Given the description of an element on the screen output the (x, y) to click on. 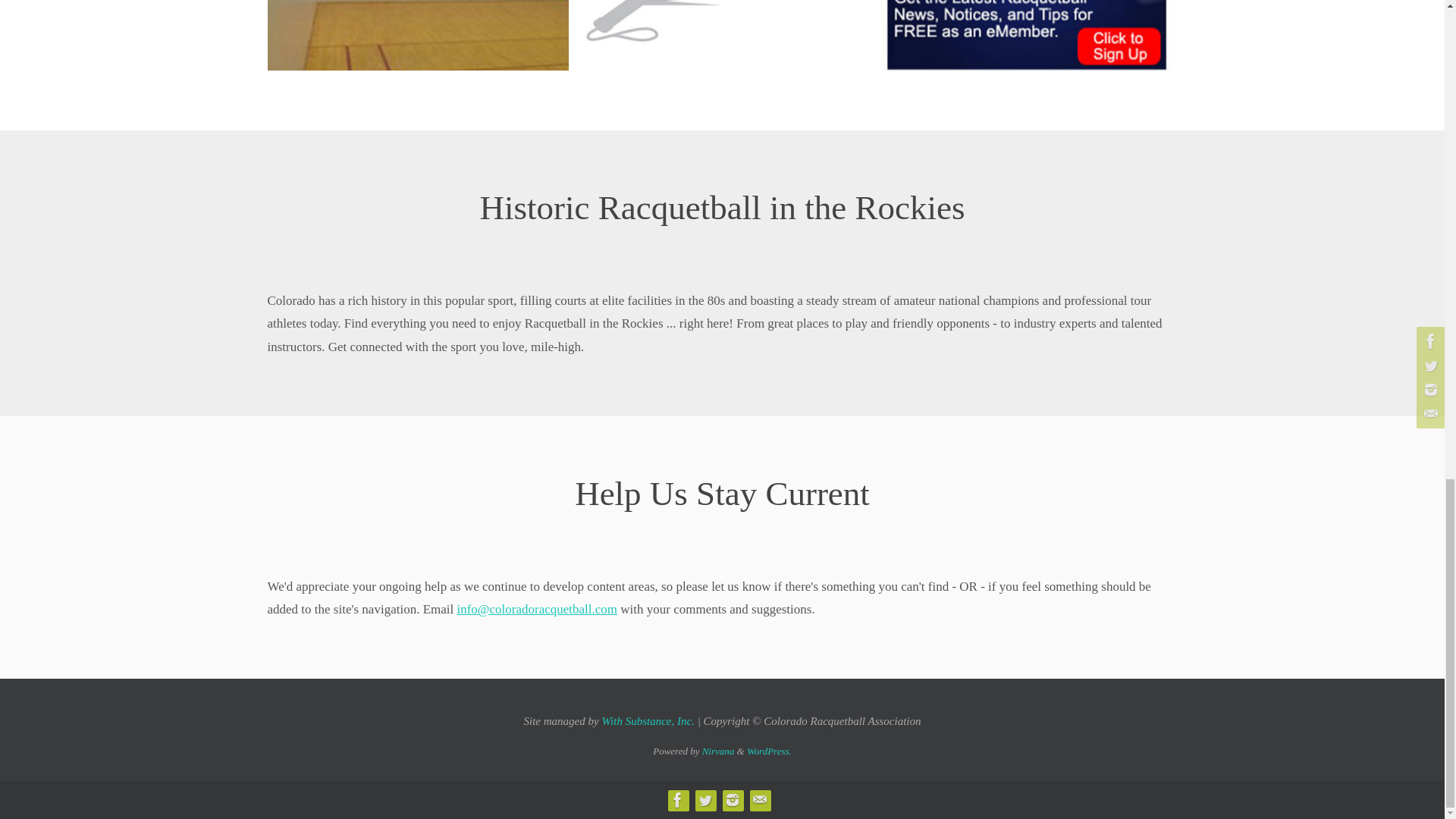
Nirvana Theme by Cryout Creations (718, 750)
Semantic Personal Publishing Platform (769, 750)
